Given the description of an element on the screen output the (x, y) to click on. 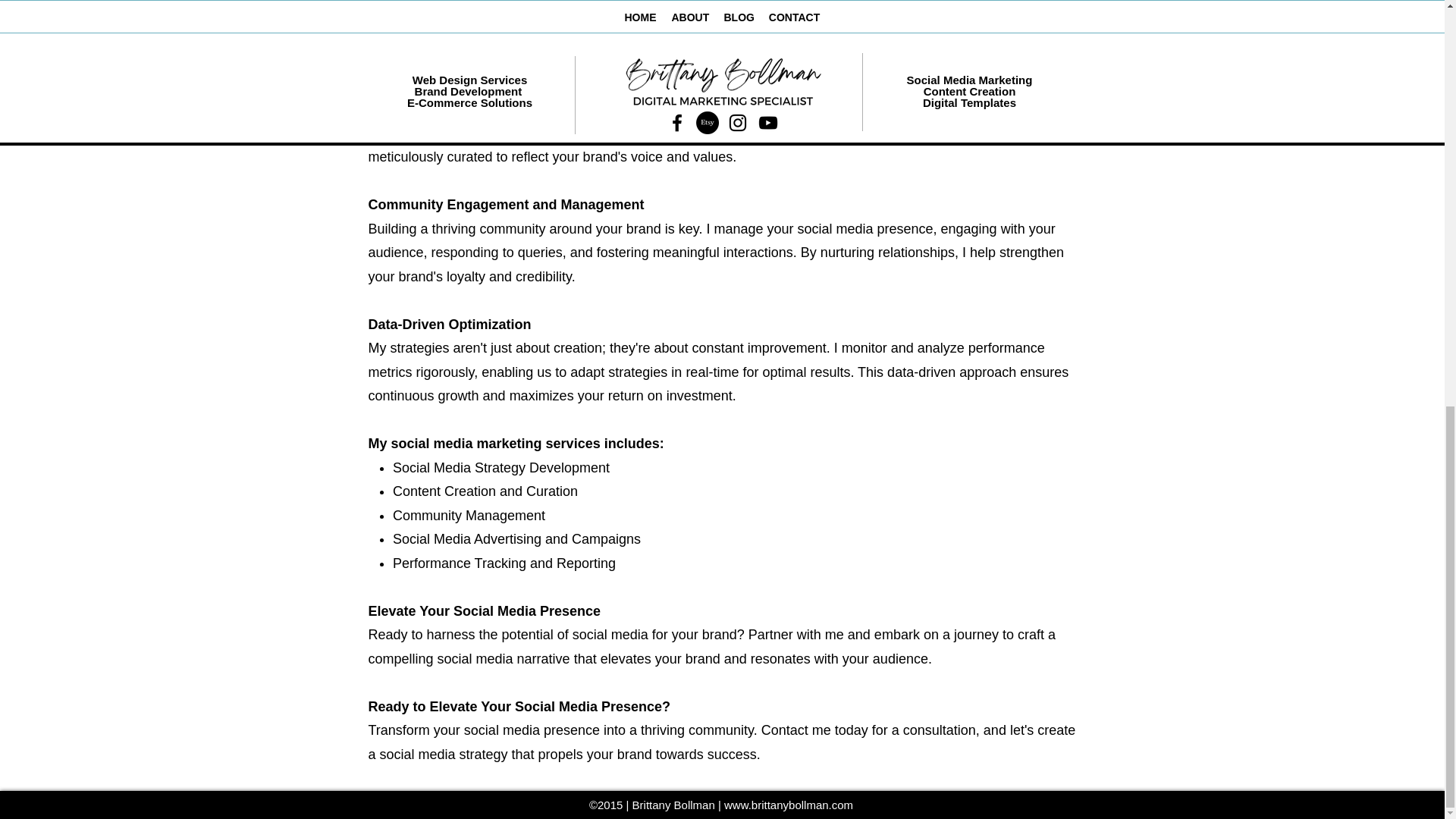
www.brittanybollman.com (788, 804)
